Given the description of an element on the screen output the (x, y) to click on. 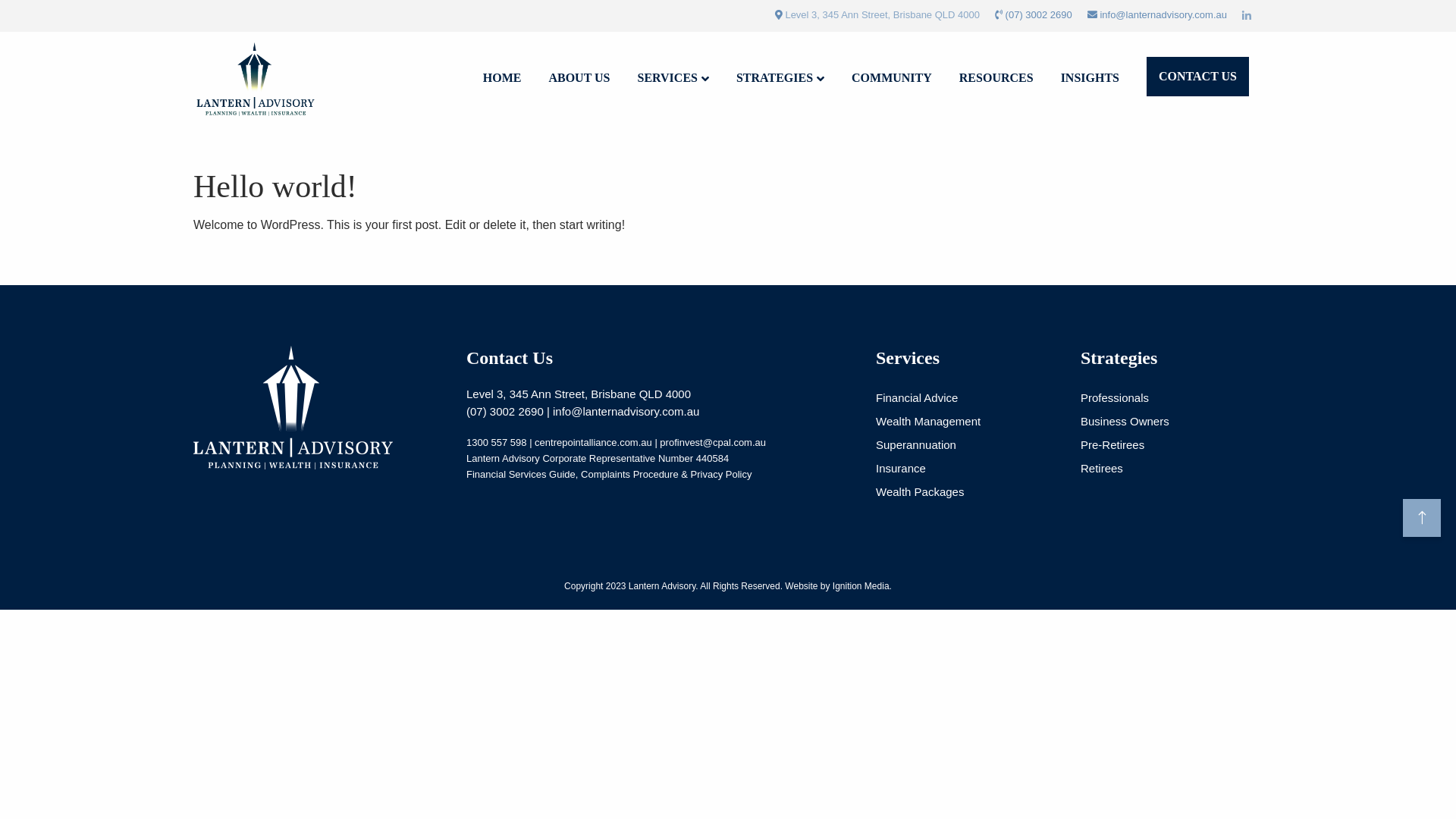
Complaints Procedure Element type: text (629, 474)
Ignition Media Element type: text (860, 585)
INSIGHTS Element type: text (1089, 79)
Wealth Management Element type: text (966, 421)
info@lanternadvisory.com.au Element type: text (625, 410)
Privacy Policy Element type: text (721, 474)
Lantern Advisory Element type: hover (257, 79)
Financial Services Guide Element type: text (520, 474)
SERVICES Element type: text (672, 79)
ABOUT US Element type: text (578, 79)
Pre-Retirees Element type: text (1171, 444)
COMMUNITY Element type: text (891, 79)
CONTACT US Element type: text (1197, 76)
Retirees Element type: text (1171, 468)
Insurance Element type: text (966, 468)
RESOURCES Element type: text (996, 79)
Wealth Packages Element type: text (966, 491)
info@lanternadvisory.com.au Element type: text (1162, 14)
Business Owners Element type: text (1171, 421)
Financial Advice Element type: text (966, 397)
Professionals Element type: text (1171, 397)
HOME Element type: text (502, 79)
STRATEGIES Element type: text (780, 79)
(07) 3002 2690 Element type: text (1038, 14)
Superannuation Element type: text (966, 444)
